Given the description of an element on the screen output the (x, y) to click on. 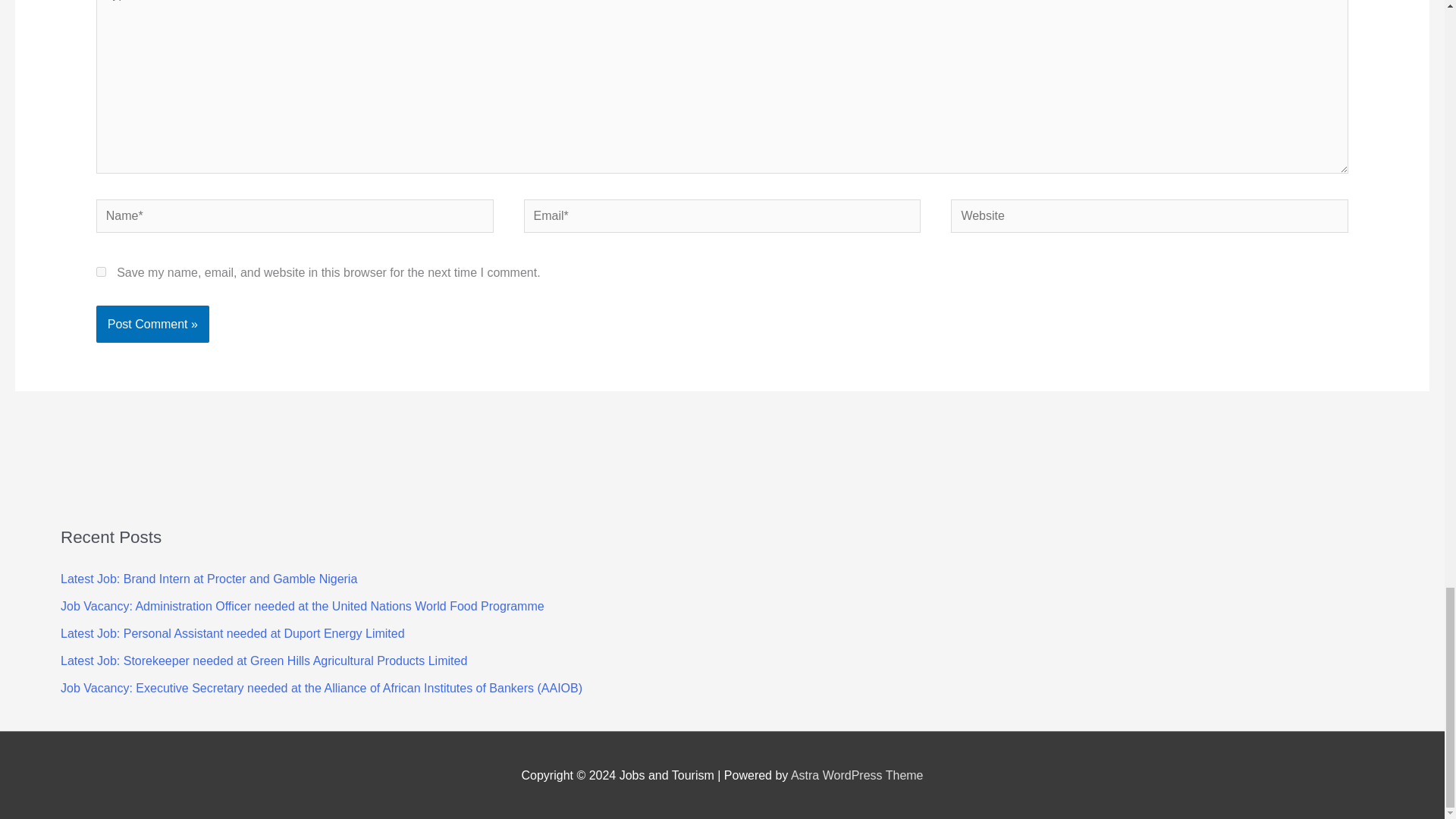
Latest Job: Brand Intern at Procter and Gamble Nigeria (208, 578)
Astra WordPress Theme (856, 775)
yes (101, 271)
